Given the description of an element on the screen output the (x, y) to click on. 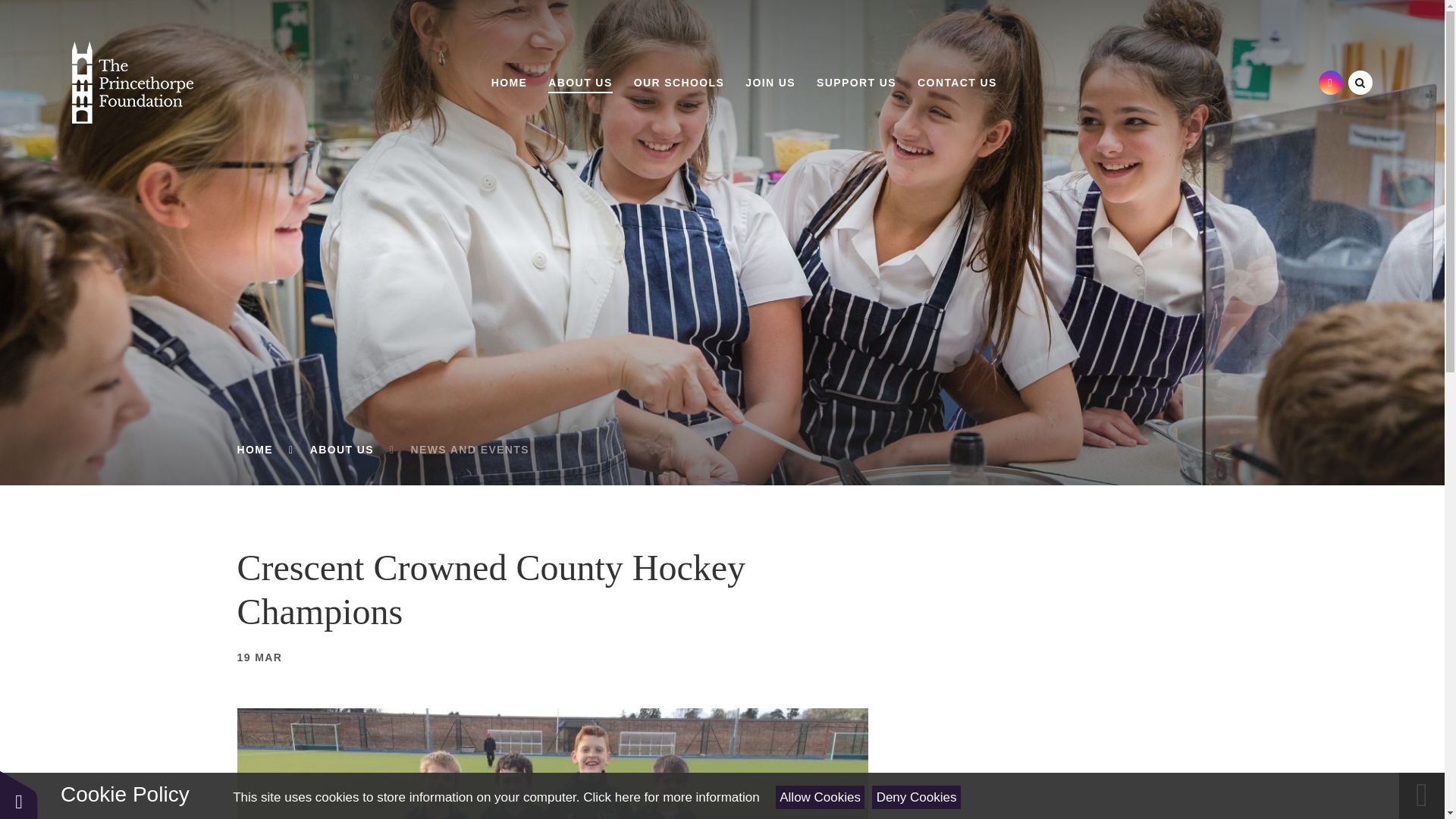
HOME (509, 82)
Allow Cookies (820, 797)
OUR SCHOOLS (679, 82)
See cookie policy (670, 797)
ABOUT US (579, 82)
Deny Cookies (915, 797)
JOIN US (769, 82)
